Given the description of an element on the screen output the (x, y) to click on. 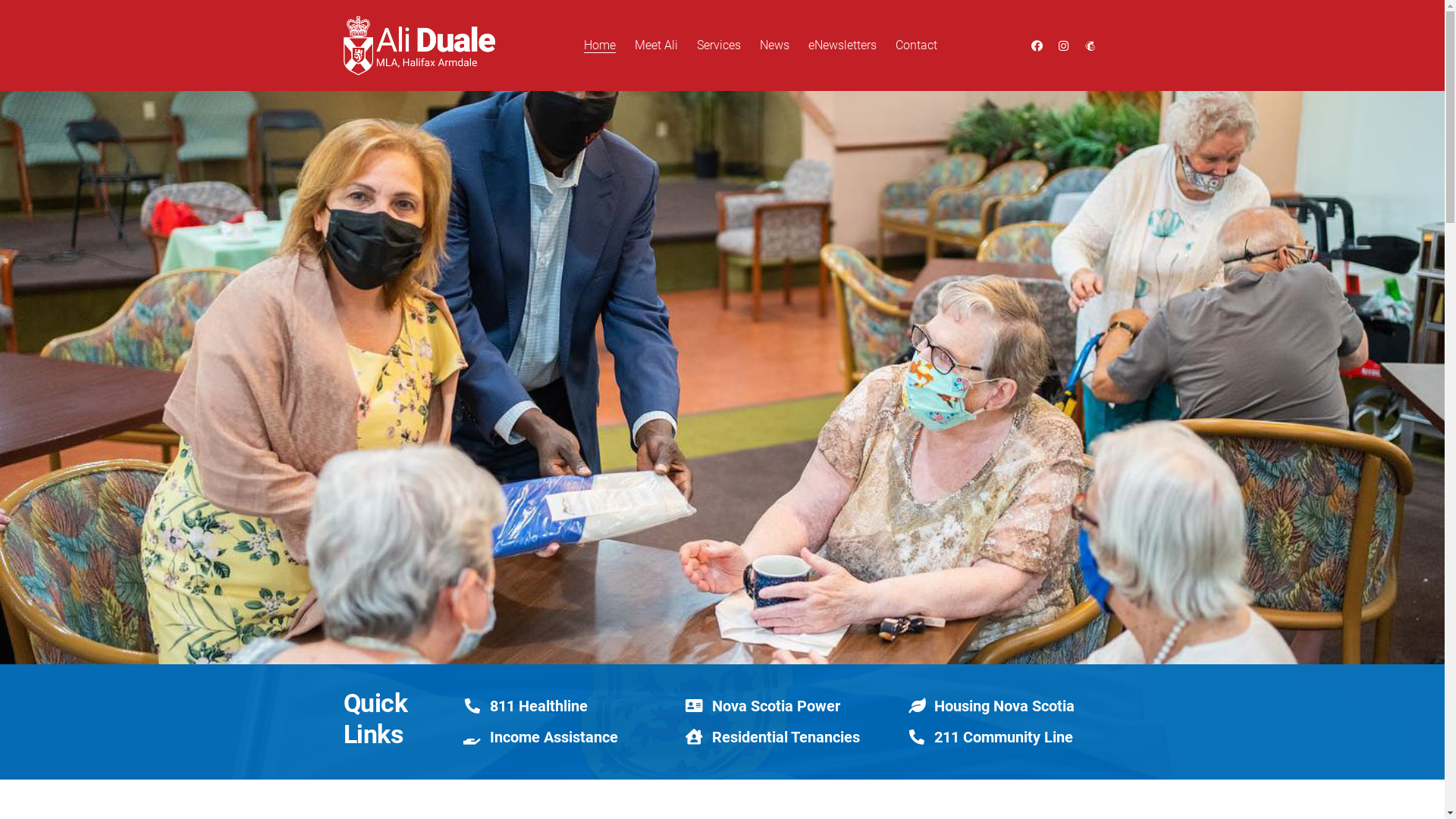
Contact Element type: text (915, 45)
Housing Nova Scotia Element type: text (1004, 705)
Home Element type: text (599, 45)
eNewsletters Element type: text (842, 45)
News Element type: text (774, 45)
Income Assistance Element type: text (553, 737)
211 Community Line Element type: text (1003, 737)
Services Element type: text (718, 45)
Meet Ali Element type: text (655, 45)
Residential Tenancies Element type: text (785, 737)
811 Healthline Element type: text (538, 705)
Nova Scotia Power Element type: text (776, 705)
